Given the description of an element on the screen output the (x, y) to click on. 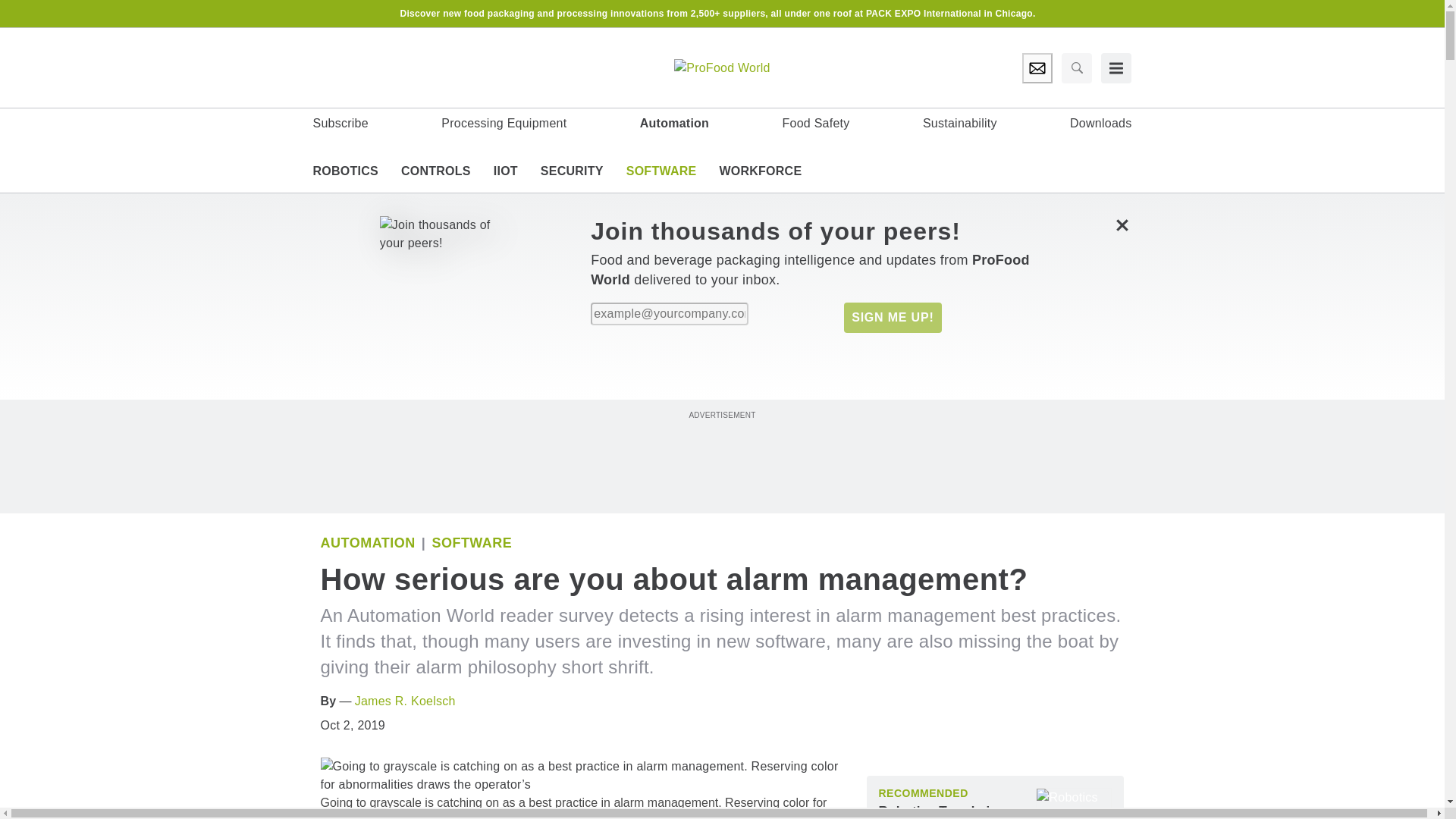
ROBOTICS (350, 164)
Recommended (922, 792)
Food Safety (816, 123)
Sustainability (960, 123)
SOFTWARE (660, 164)
Software (471, 542)
Automation (674, 123)
CONTROLS (435, 164)
SIGN ME UP! (892, 317)
SECURITY (571, 164)
